Given the description of an element on the screen output the (x, y) to click on. 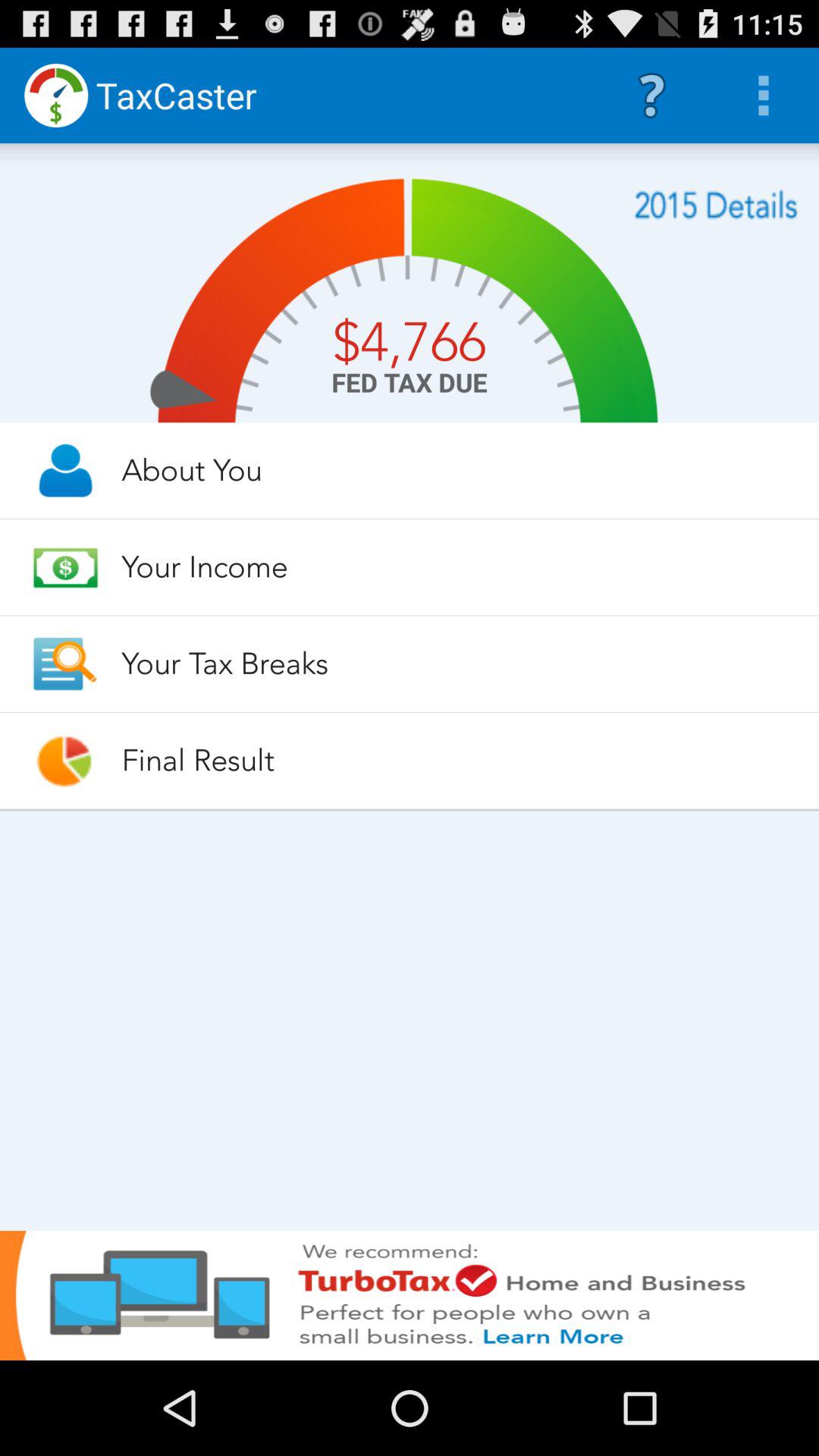
press the final result app (456, 760)
